Given the description of an element on the screen output the (x, y) to click on. 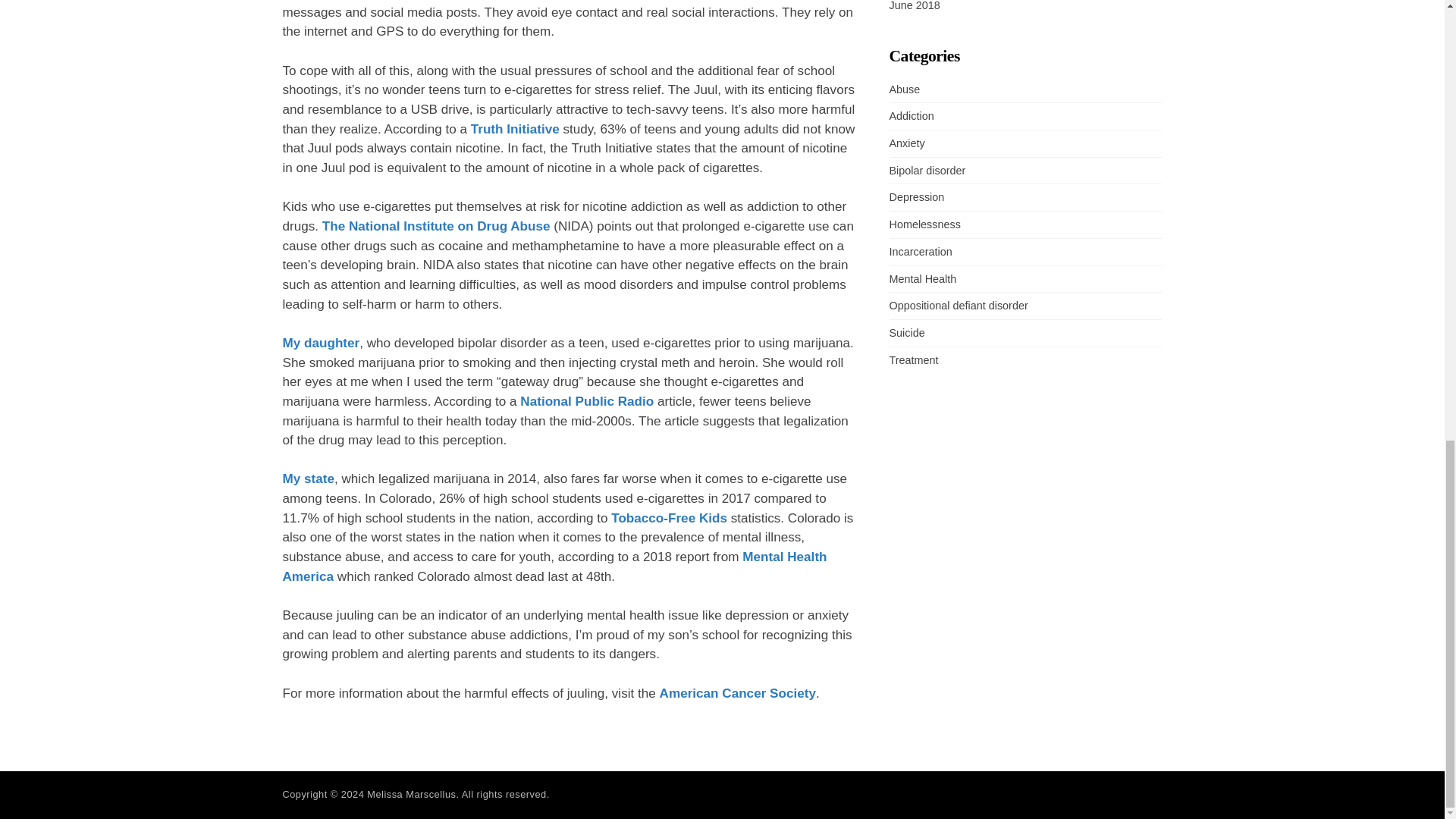
My state (307, 478)
Abuse (904, 89)
National Public Radio (586, 400)
Anxiety (906, 143)
Addiction (910, 115)
Mental Health America (554, 566)
American Cancer Society (737, 693)
Depression (915, 196)
Truth Initiative (514, 129)
Tobacco-Free Kids (668, 518)
Bipolar disorder (926, 170)
June 2018 (913, 5)
The National Institute on Drug Abuse (435, 226)
My daughter (320, 342)
